Given the description of an element on the screen output the (x, y) to click on. 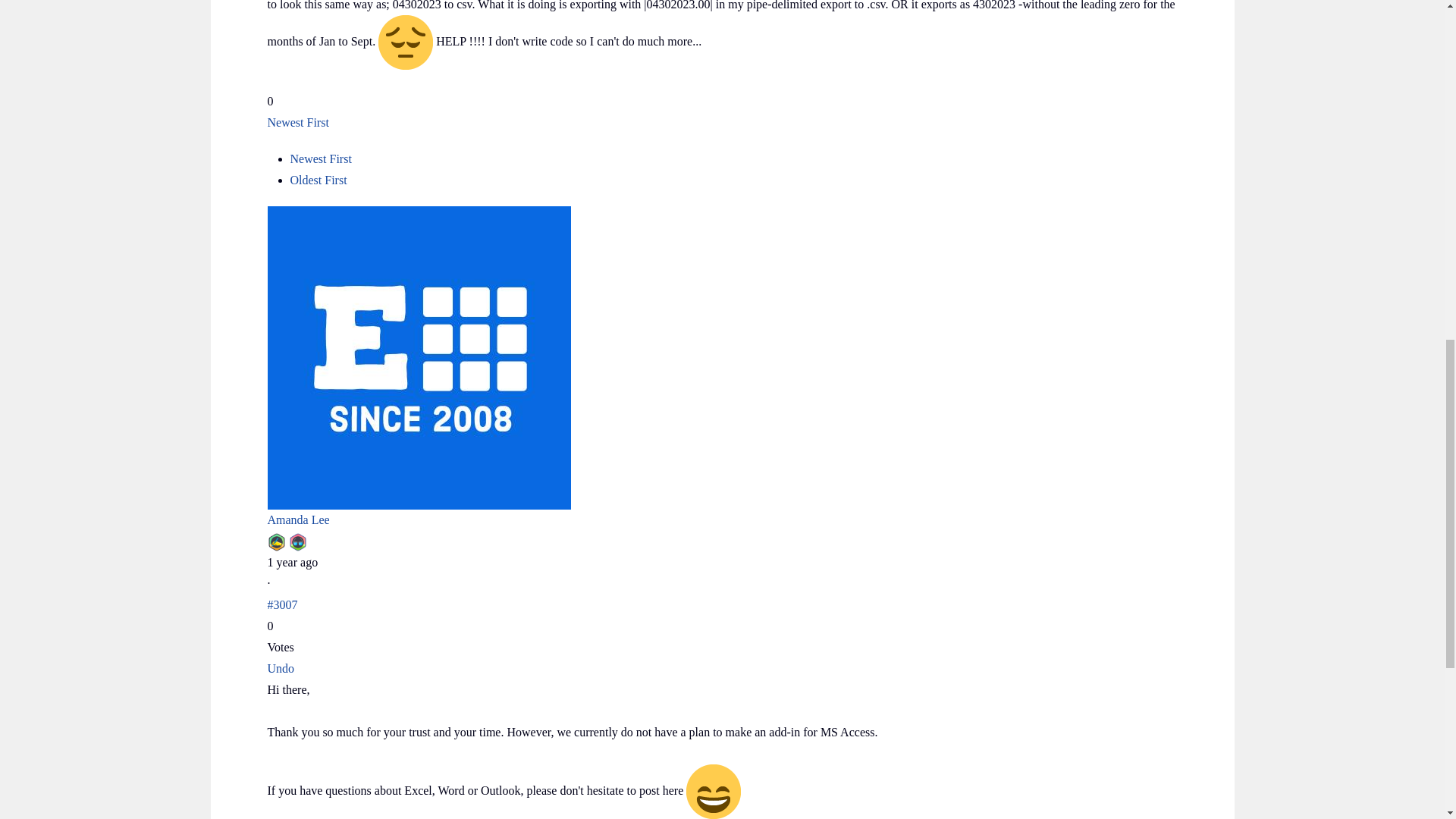
Not rated yet! (721, 79)
